Given the description of an element on the screen output the (x, y) to click on. 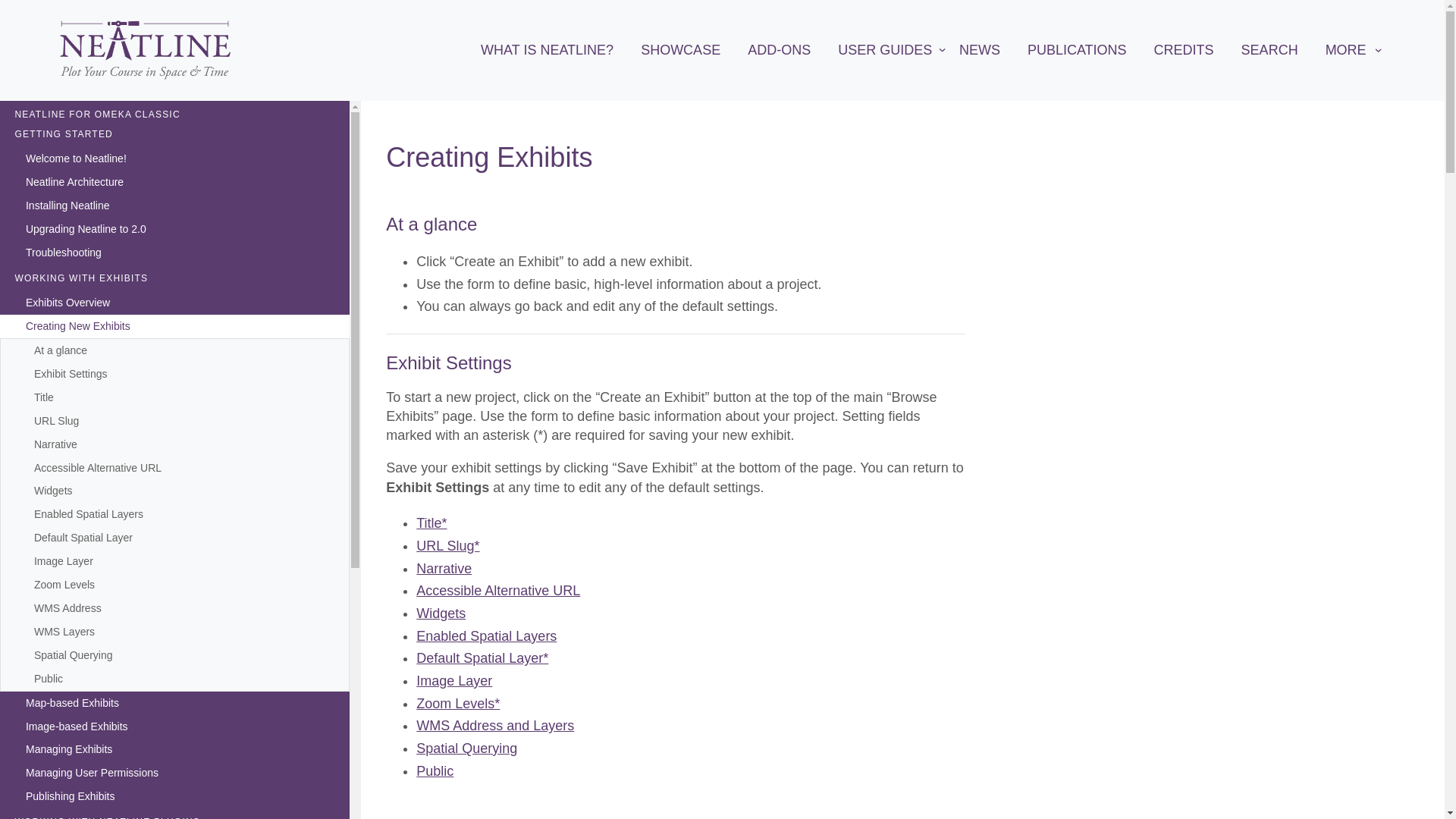
Exhibits Overview (174, 303)
Narrative (55, 444)
PUBLICATIONS (1076, 49)
Creating New Exhibits (174, 326)
Exhibit Settings (70, 373)
Welcome to Neatline! (174, 159)
URL Slug (56, 421)
CREDITS (1184, 49)
SHOWCASE (680, 49)
SEARCH (1269, 49)
